Given the description of an element on the screen output the (x, y) to click on. 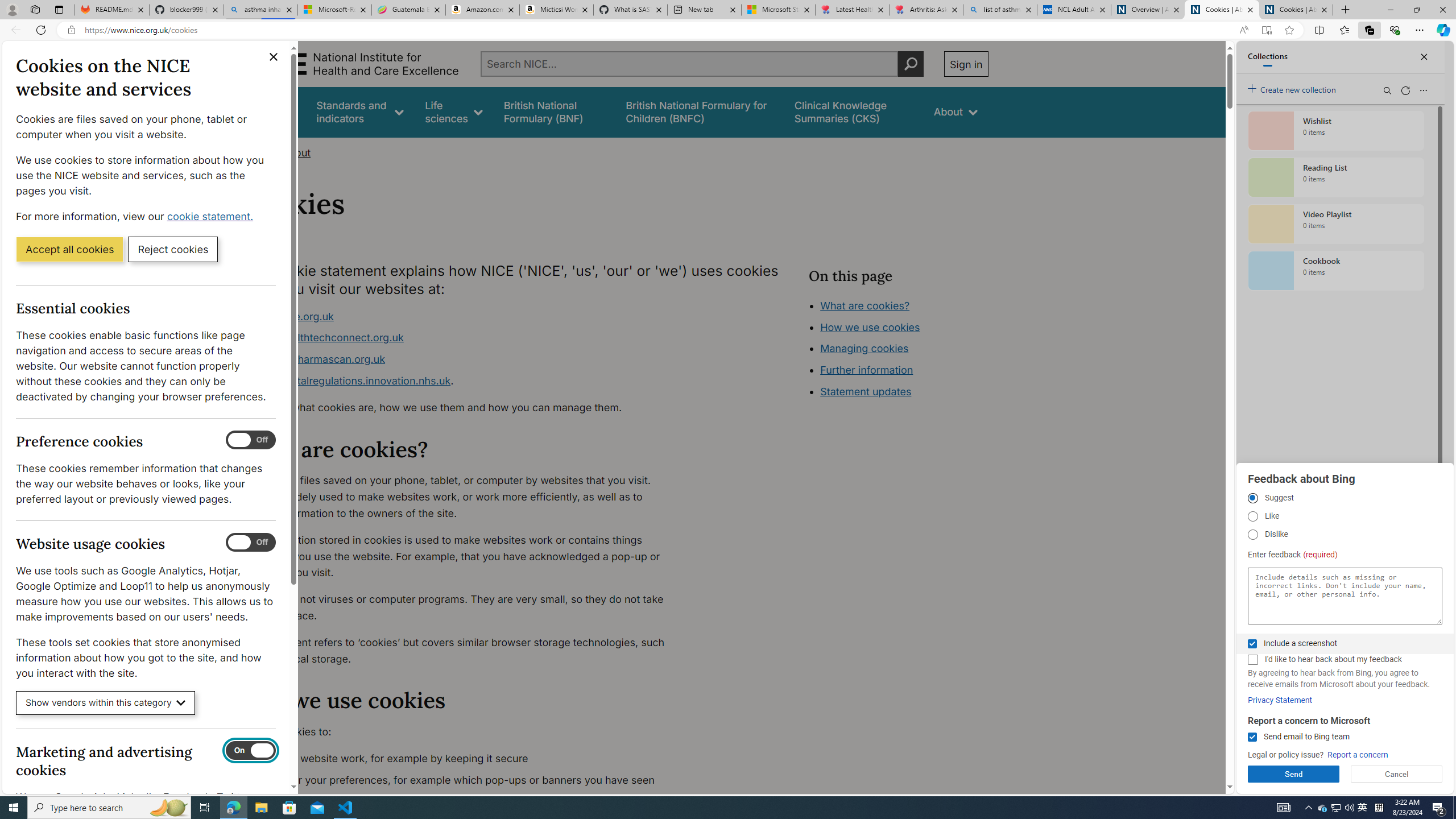
How we use cookies (869, 327)
www.nice.org.uk (292, 315)
www.nice.org.uk (464, 316)
Privacy Statement (1280, 700)
Managing cookies (863, 348)
Send (1293, 773)
cookie statement. (Opens in a new window) (211, 215)
